Given the description of an element on the screen output the (x, y) to click on. 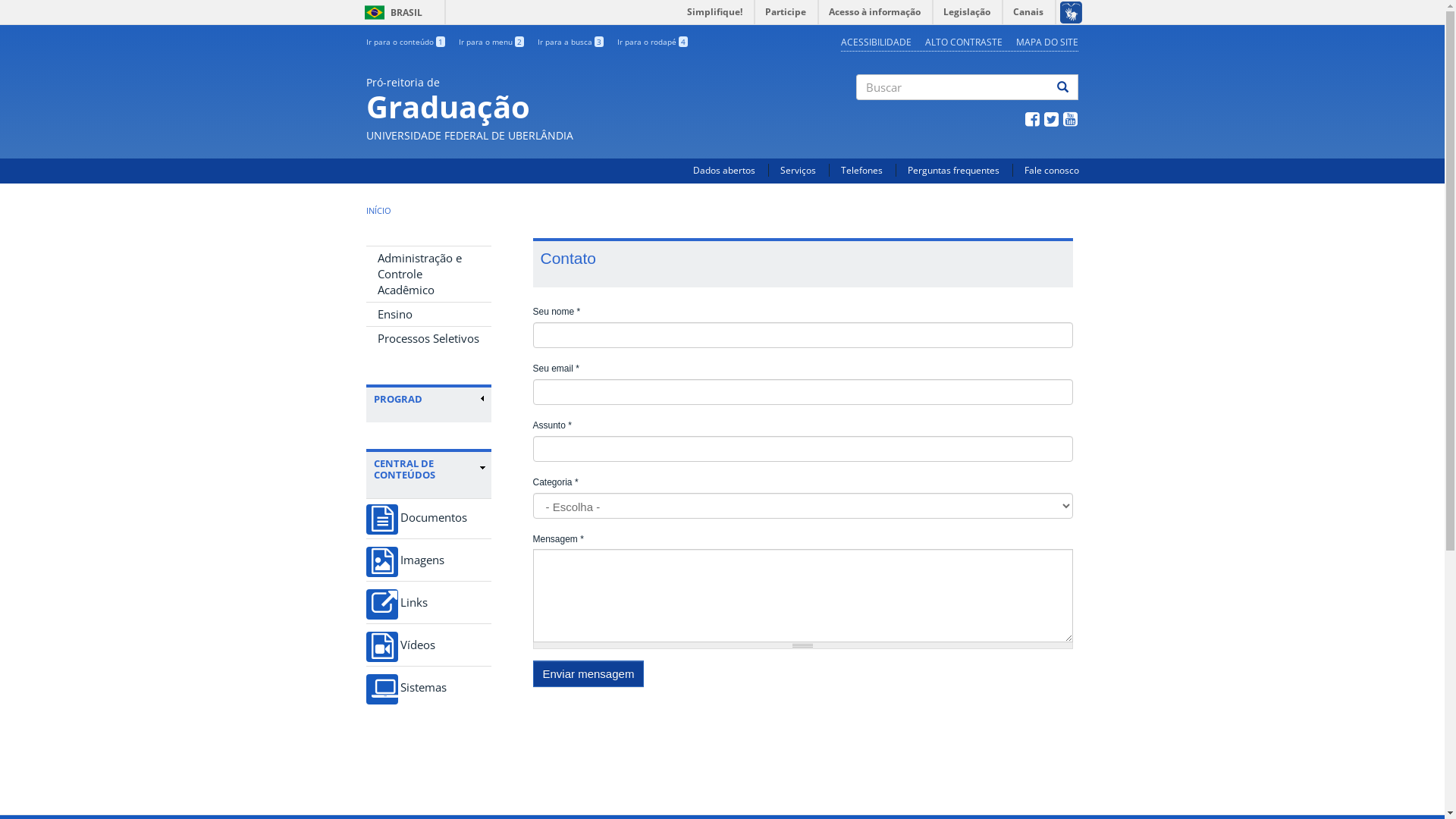
Ensino Element type: text (427, 314)
Telefones Element type: text (860, 169)
ACESSIBILIDADE Element type: text (875, 41)
Ir para o menu 2 Element type: text (490, 41)
MAPA DO SITE Element type: text (1047, 41)
BRASIL Element type: text (373, 12)
Buscar Element type: text (865, 112)
Imagens Element type: text (427, 559)
Enviar mensagem Element type: text (587, 673)
Perguntas frequentes Element type: text (952, 169)
PROGRAD Element type: text (428, 398)
Processos Seletivos Element type: text (427, 338)
Ir para a busca 3 Element type: text (569, 41)
Links Element type: text (427, 602)
Dados abertos Element type: text (724, 169)
Sistemas Element type: text (427, 687)
Fale conosco Element type: text (1050, 169)
ALTO CONTRASTE Element type: text (963, 41)
Documentos Element type: text (427, 518)
